Given the description of an element on the screen output the (x, y) to click on. 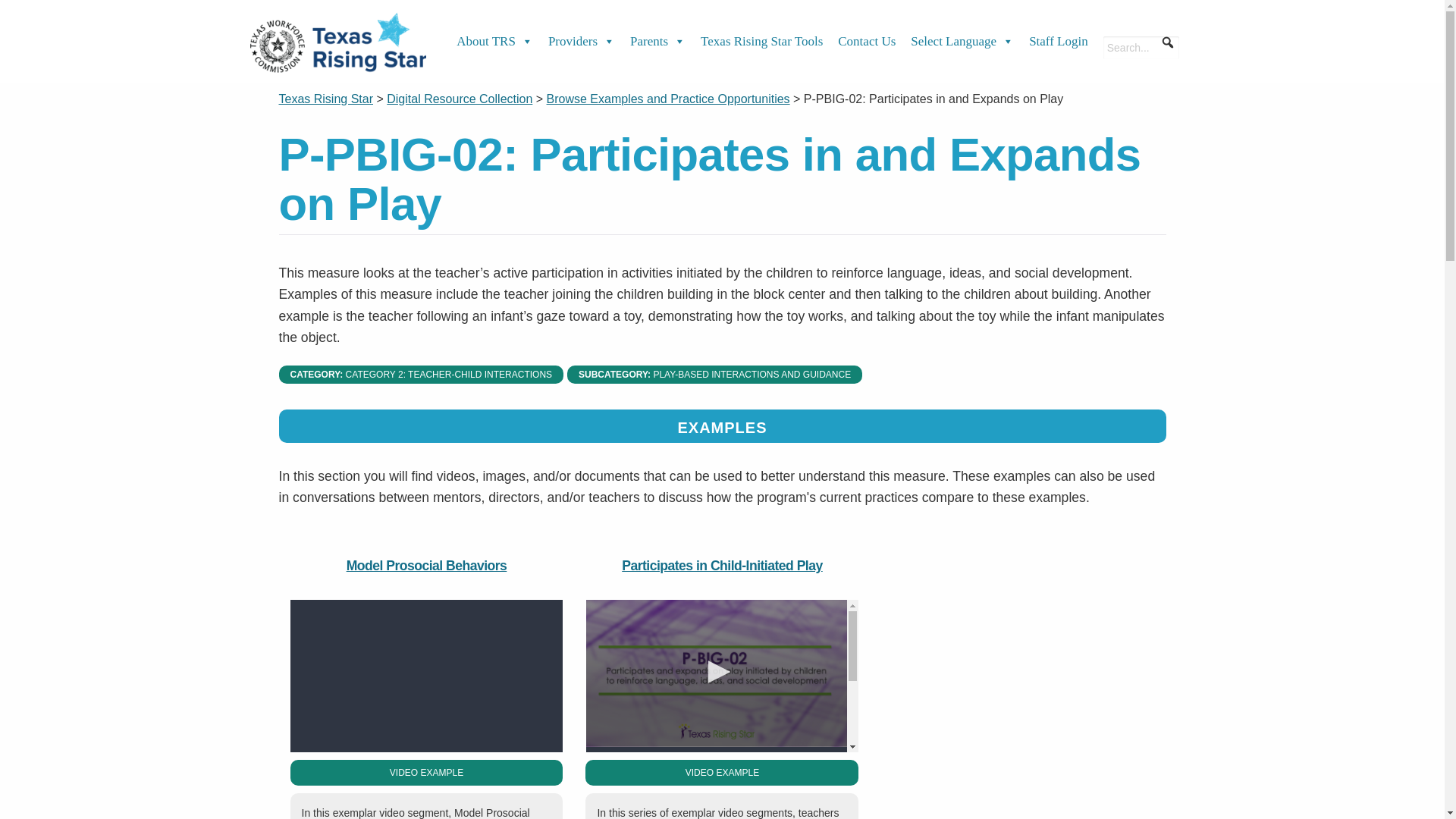
Texas Rising Star (326, 98)
Digital Resource Collection (459, 98)
Model Prosocial Behaviors (426, 565)
Parents (657, 41)
Participates in Child-Initiated Play (722, 675)
Texas Rising Star Tools (761, 41)
Search (22, 11)
Select Language (962, 41)
Providers (581, 41)
About TRS (494, 41)
Go to Browse Examples and Practice Opportunities. (668, 98)
Staff Login (1058, 41)
Go to Digital Resource Collection. (459, 98)
Browse Examples and Practice Opportunities (668, 98)
Model Prosocial Behaviors (425, 675)
